Given the description of an element on the screen output the (x, y) to click on. 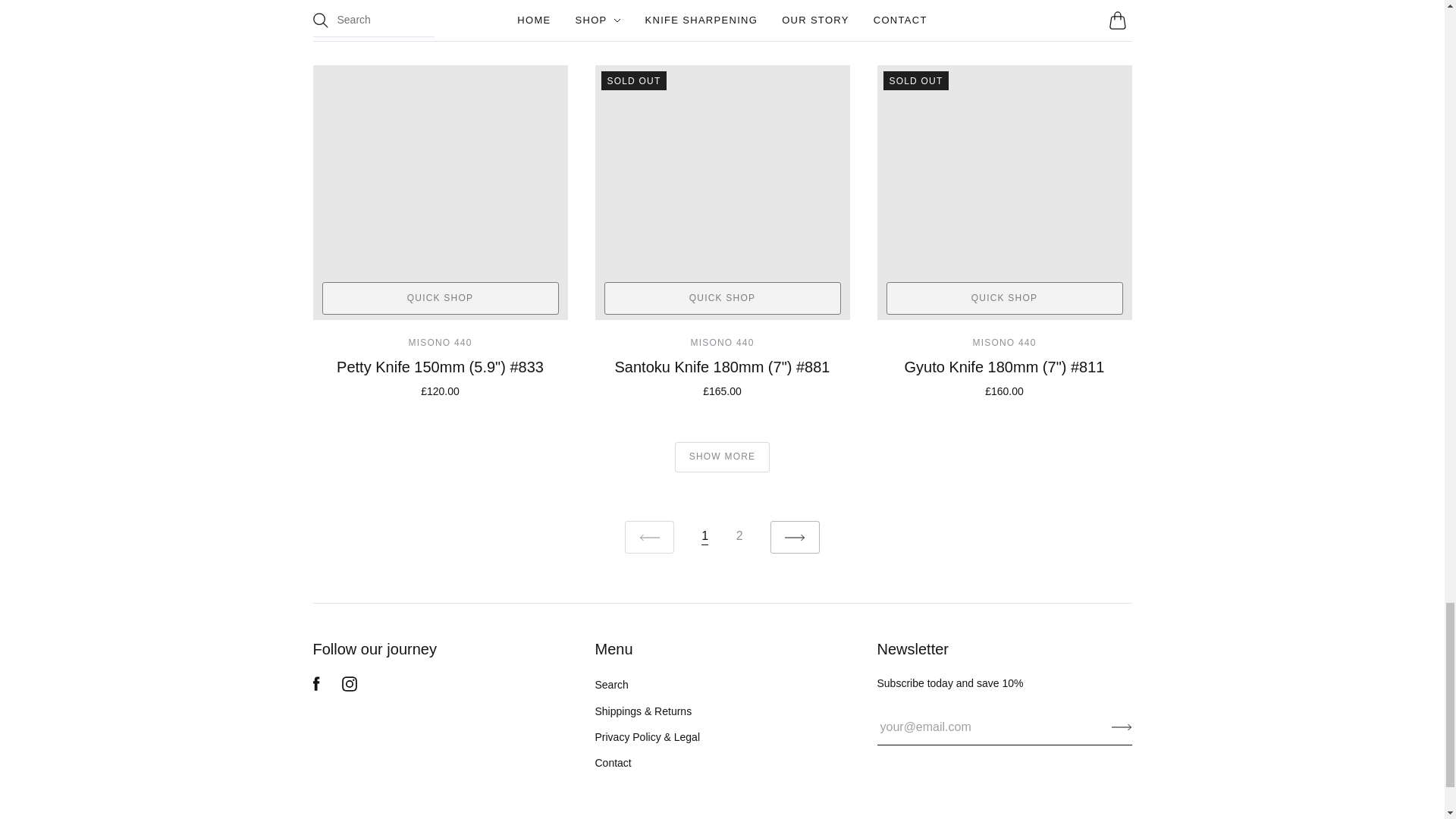
SHOW MORE (722, 457)
Misono 440 (1003, 342)
Misono 440 (722, 342)
Misono 440 (439, 342)
SHOW MORE (722, 457)
